Given the description of an element on the screen output the (x, y) to click on. 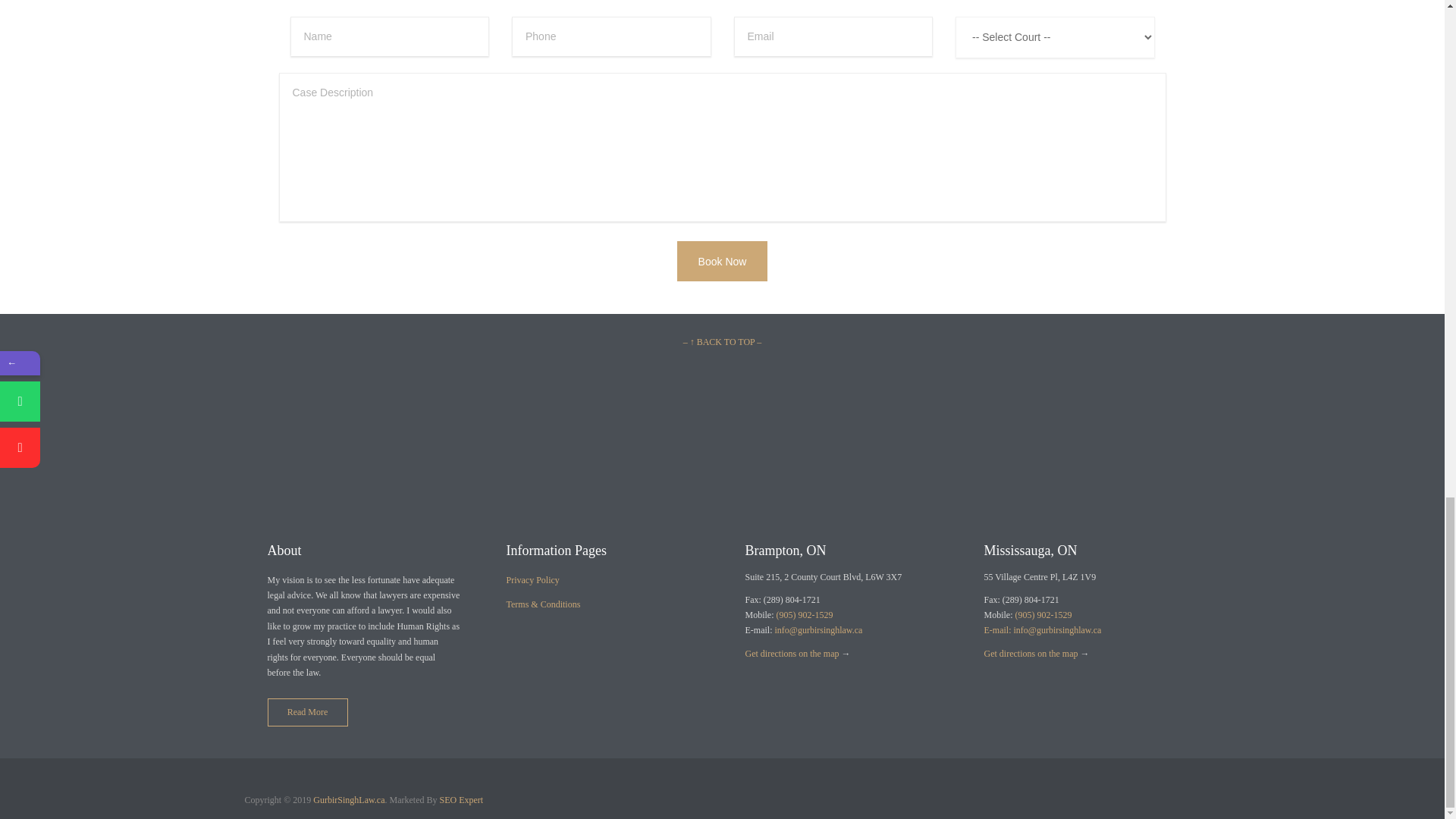
Book Now (722, 260)
Book Now (722, 260)
Privacy Policy (532, 579)
Read More (306, 711)
